Given the description of an element on the screen output the (x, y) to click on. 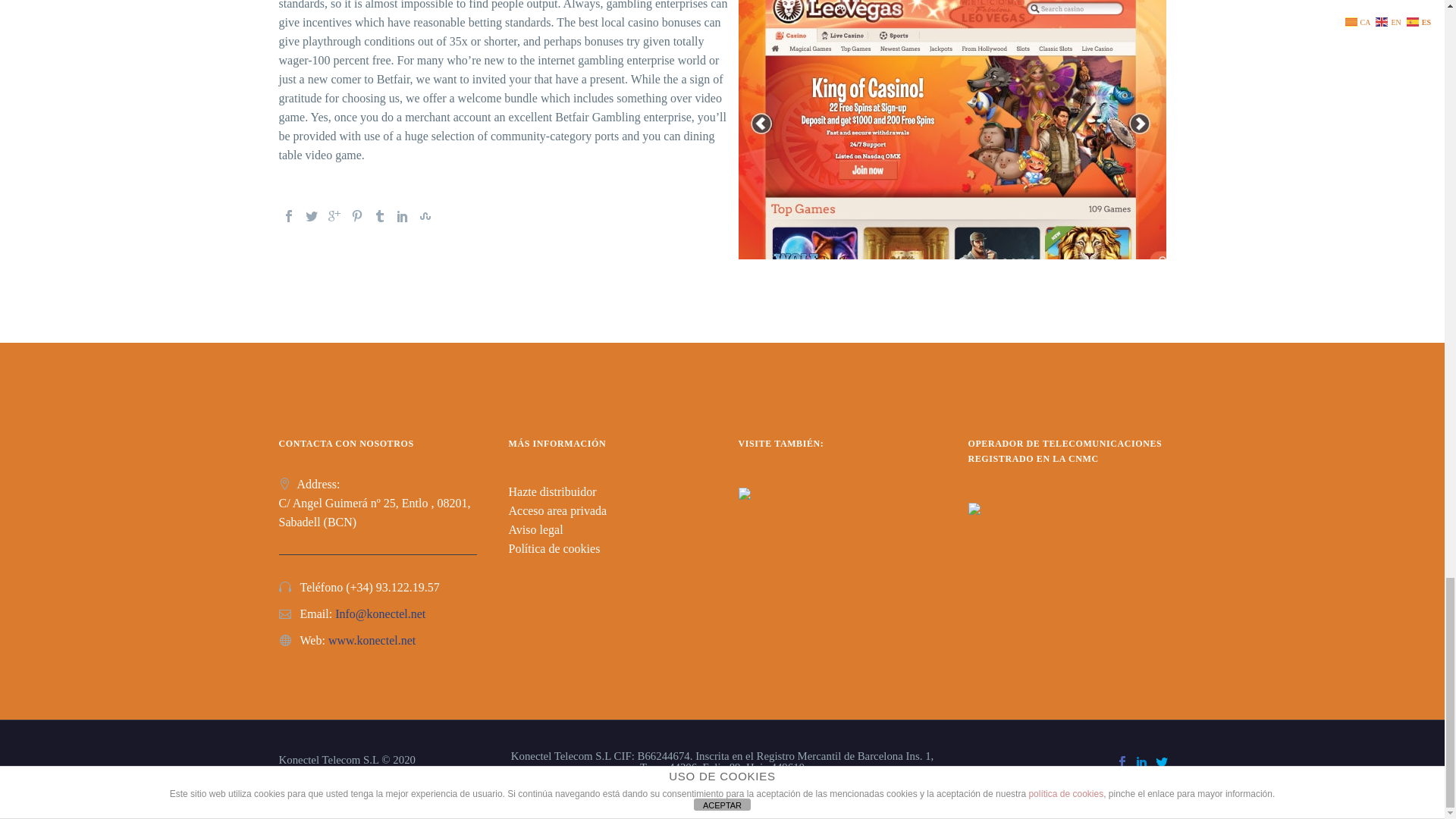
twitter (1161, 761)
facebook (1122, 761)
Facebook (288, 215)
Pinterest (356, 215)
linkedin (1141, 761)
LinkedIn (401, 215)
Hazte distribuidor (551, 491)
Twitter (310, 215)
StumbleUpon (424, 215)
Tumblr (378, 215)
Aviso legal (535, 529)
Google Plus (333, 215)
Acceso area privada (557, 510)
www.konectel.net (371, 640)
